Given the description of an element on the screen output the (x, y) to click on. 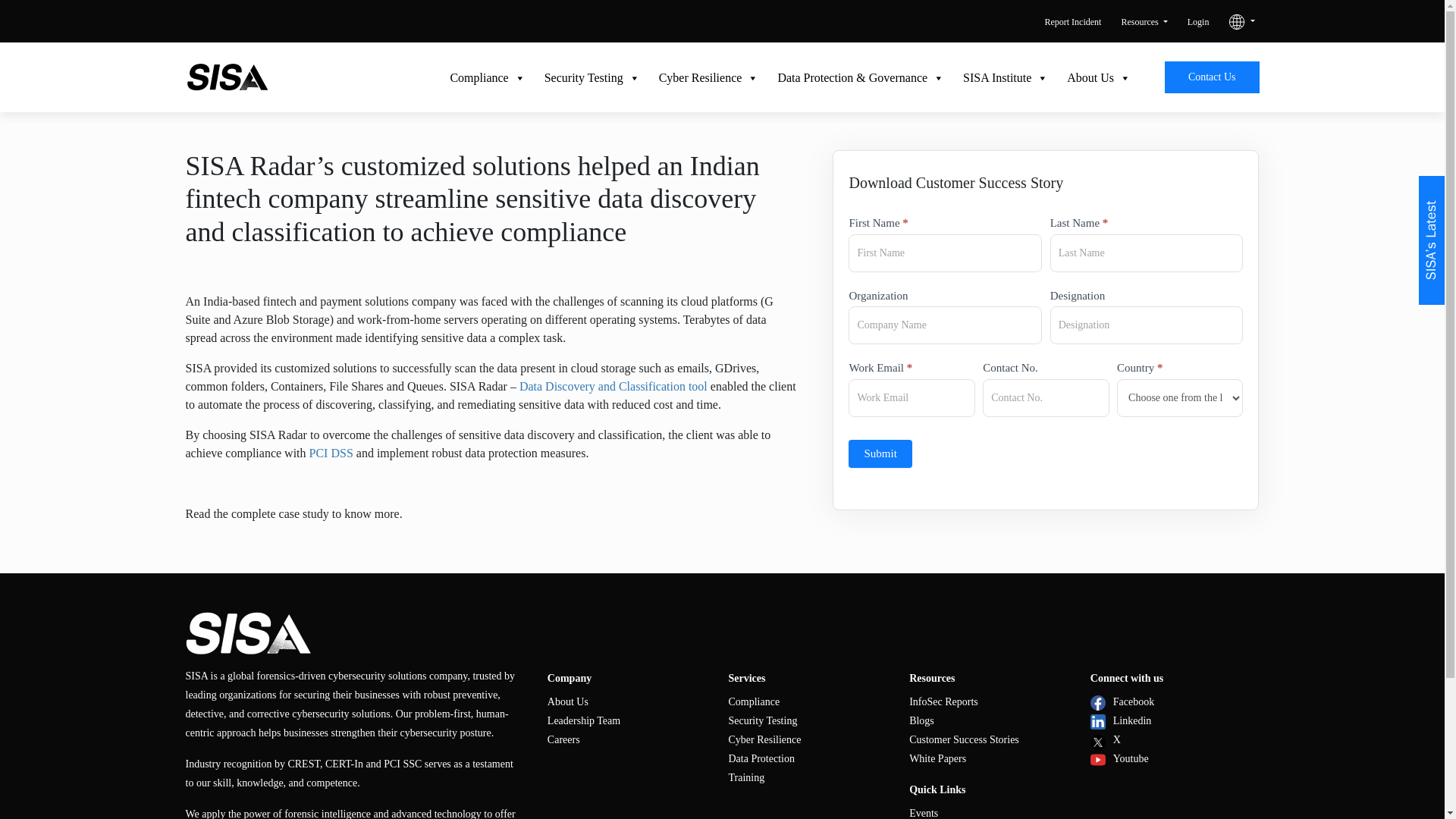
Report Incident (1071, 21)
Compliance (477, 78)
Login (1198, 21)
SISA logo (226, 77)
Security Testing (582, 78)
Resources (1144, 21)
SISA white logo (247, 632)
Globe (1236, 21)
